Given the description of an element on the screen output the (x, y) to click on. 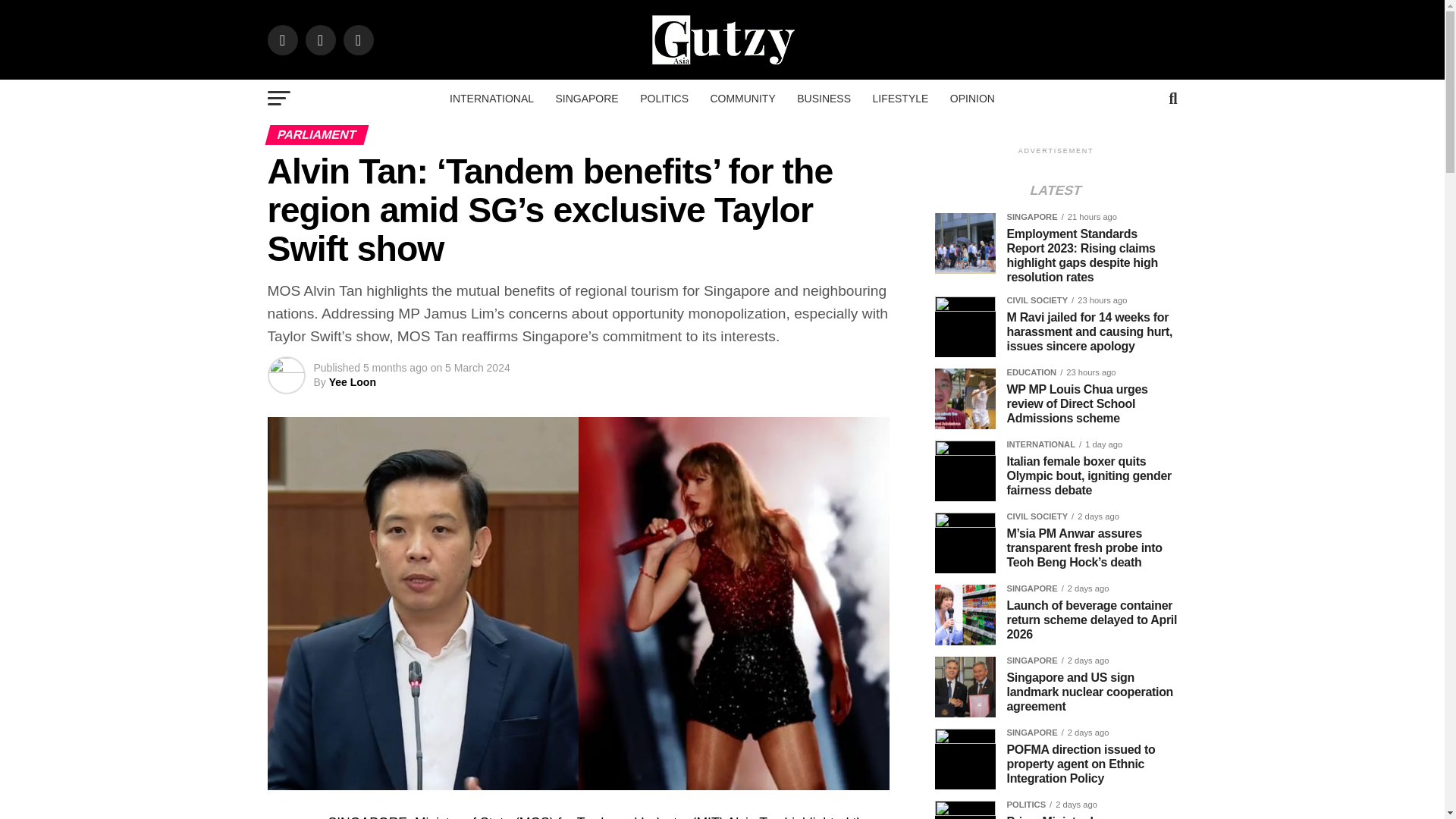
INTERNATIONAL (492, 98)
Posts by Yee Loon (352, 381)
SINGAPORE (586, 98)
POLITICS (663, 98)
